Given the description of an element on the screen output the (x, y) to click on. 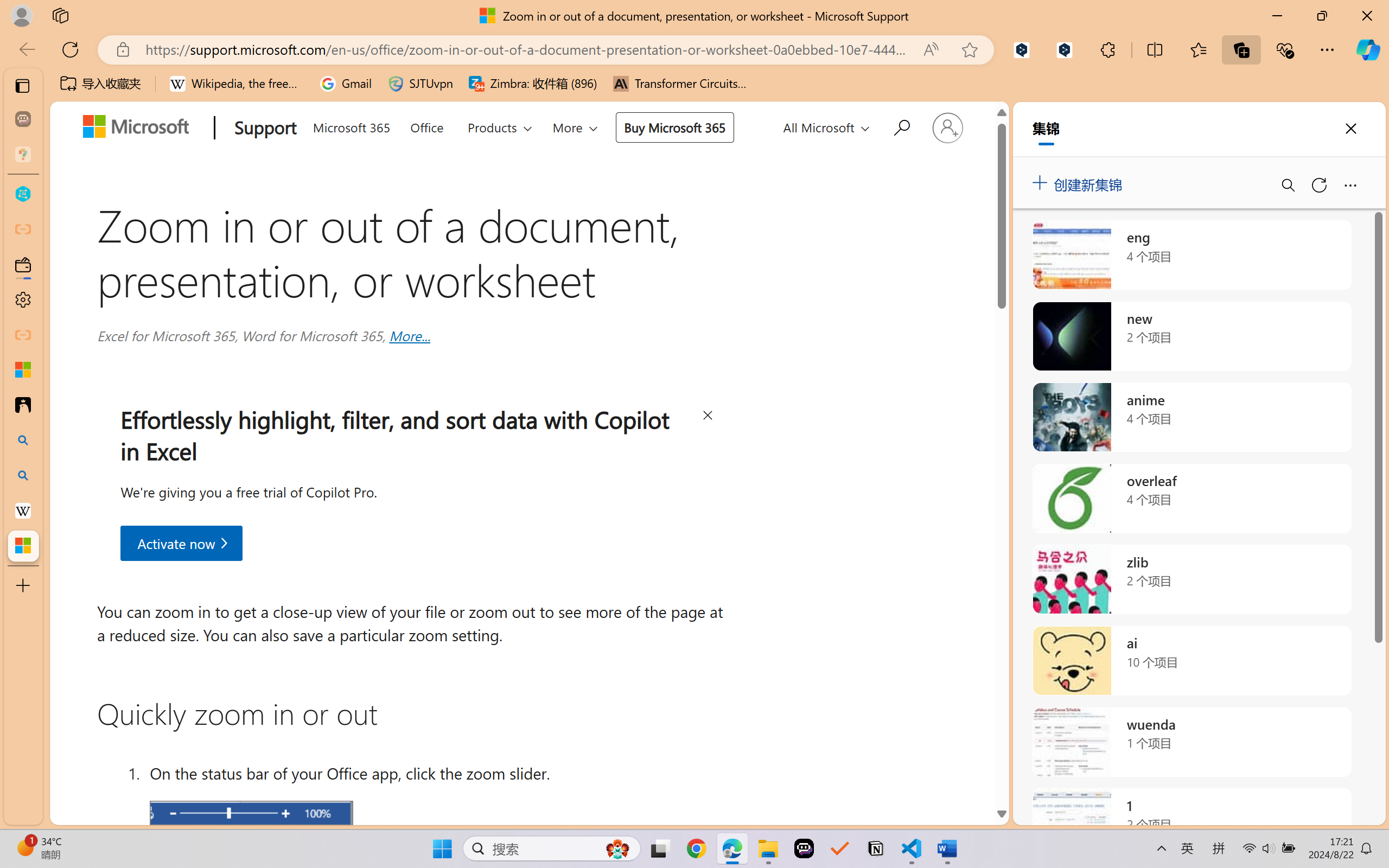
Adjust indents and spacing - Microsoft Support (22, 369)
Buy Microsoft 365 (674, 126)
Microsoft (139, 128)
Search for help (900, 126)
